Given the description of an element on the screen output the (x, y) to click on. 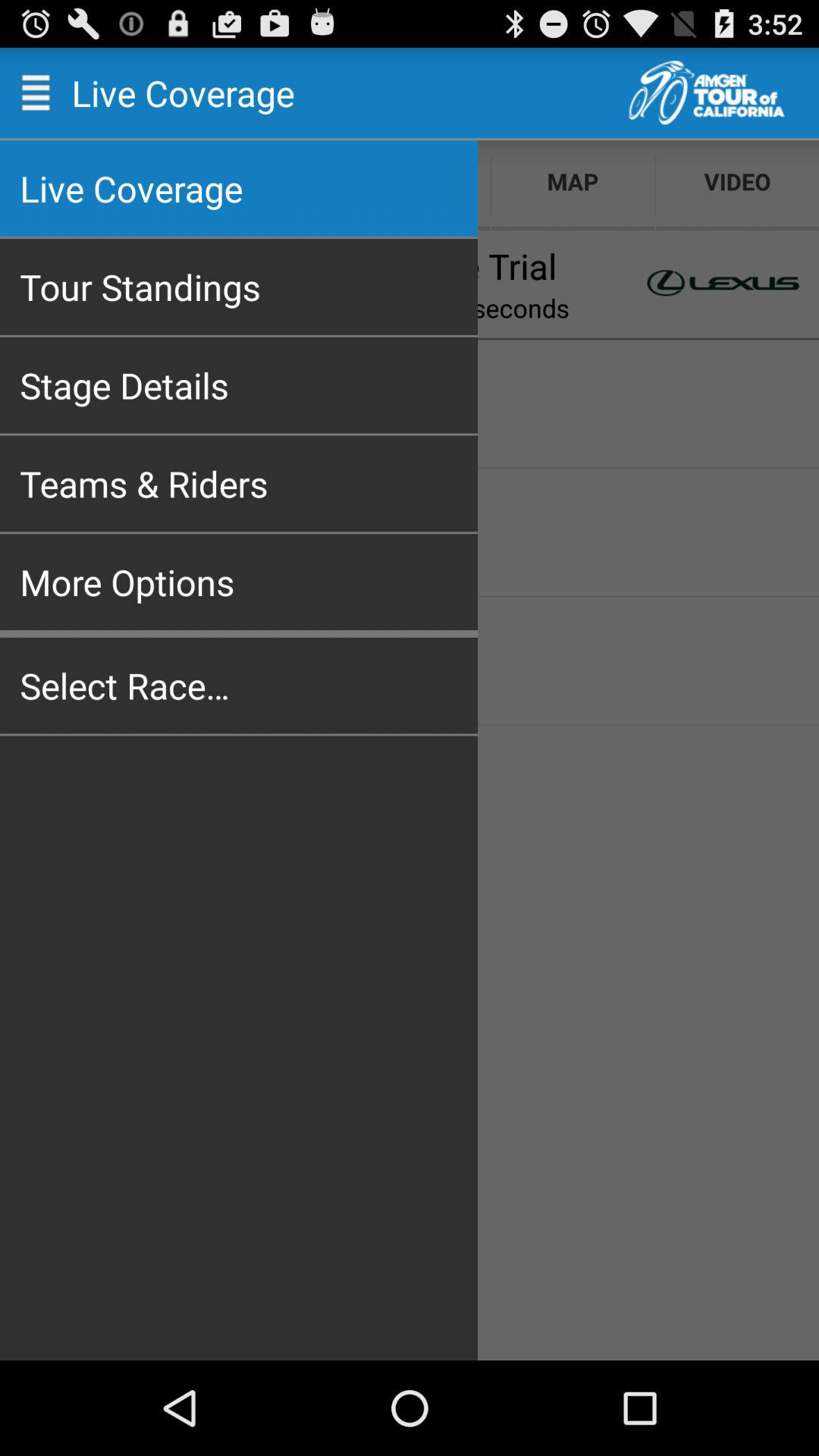
move to text which is at the top right corner (724, 92)
